Given the description of an element on the screen output the (x, y) to click on. 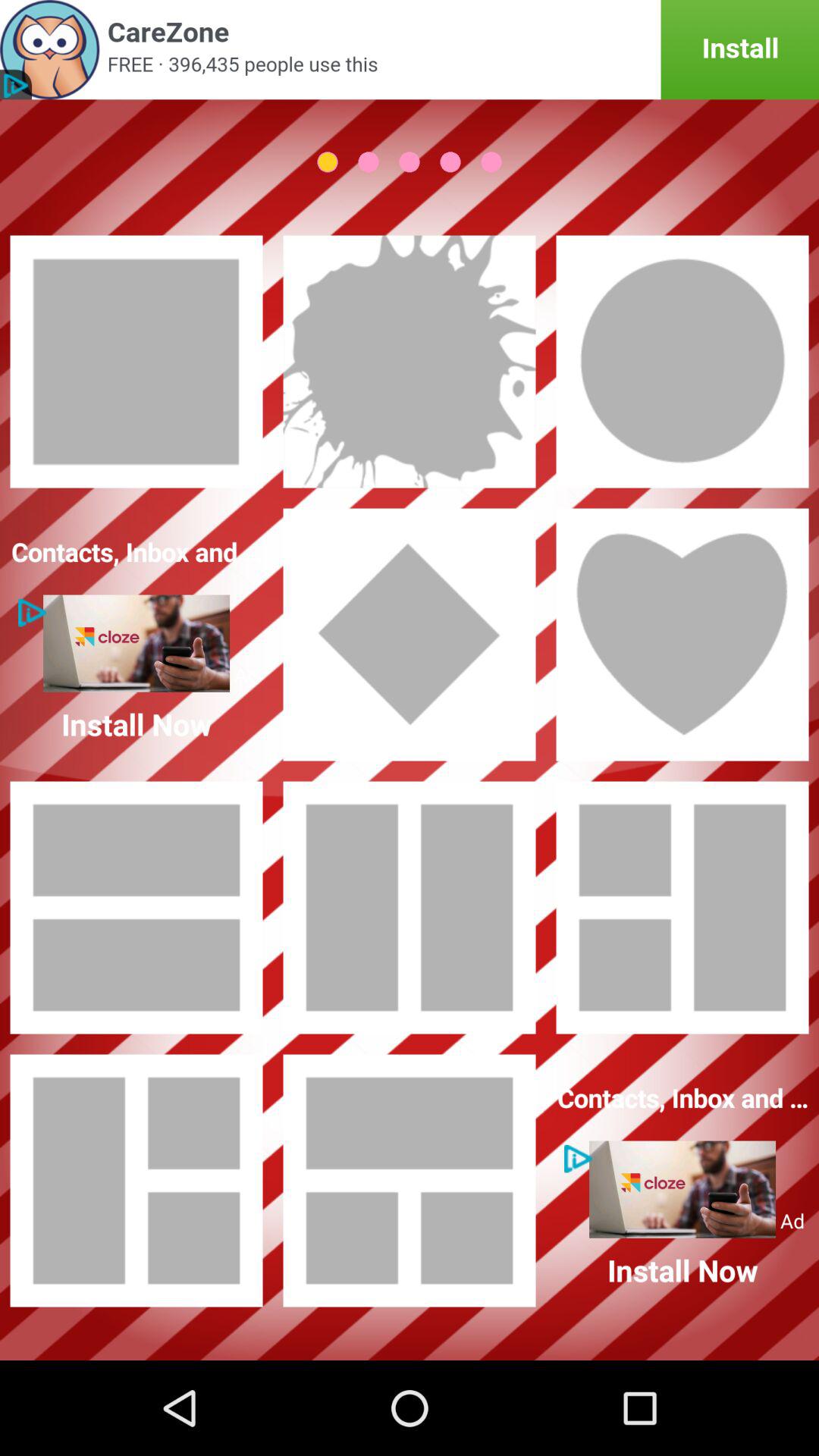
select this collage (409, 907)
